Given the description of an element on the screen output the (x, y) to click on. 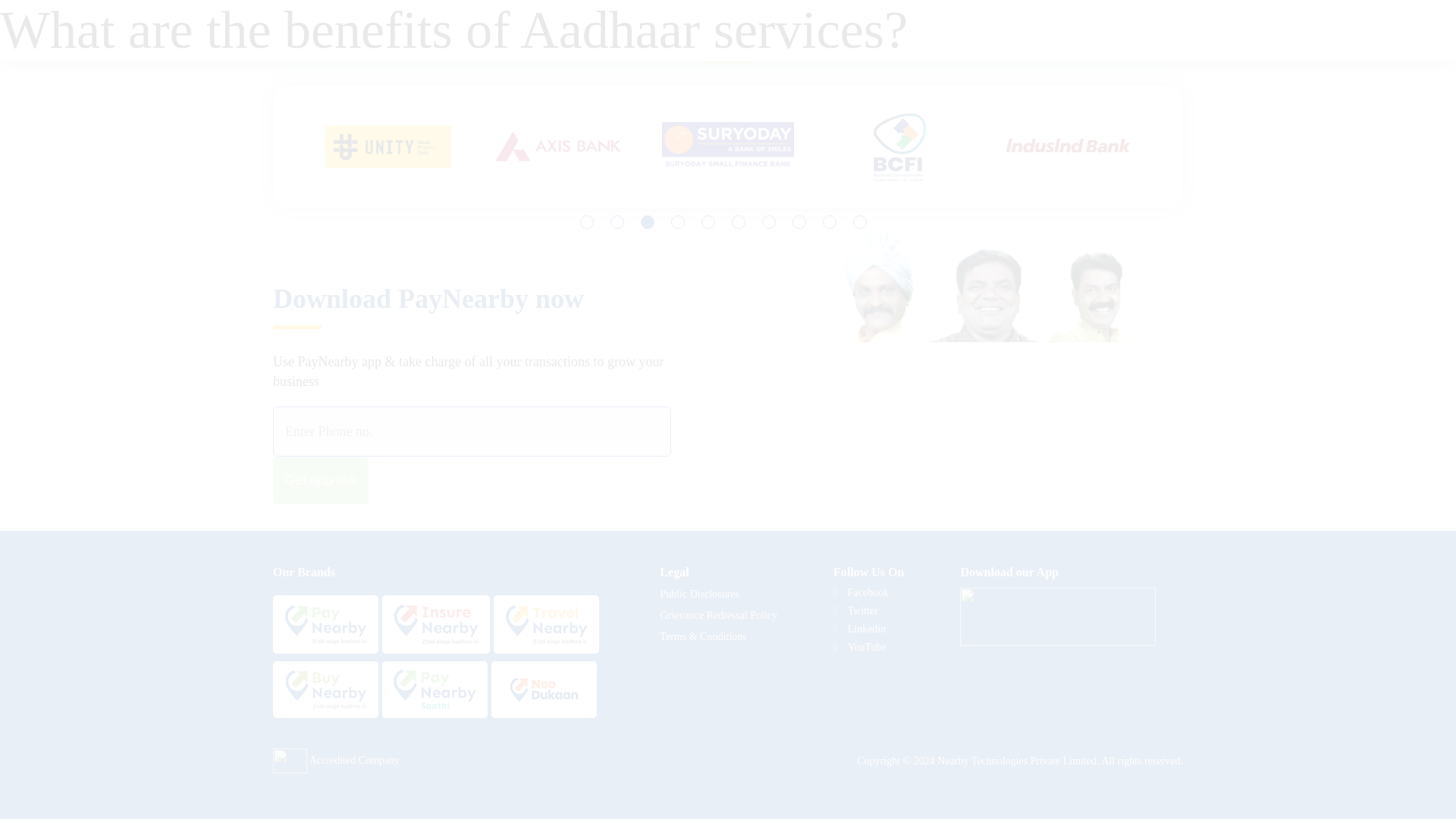
6 (738, 222)
1 (586, 222)
Public Disclosures (718, 594)
YouTube (859, 647)
9 (828, 222)
10 (859, 222)
Linkedin (858, 629)
7 (768, 222)
5 (707, 222)
4 (677, 222)
